Given the description of an element on the screen output the (x, y) to click on. 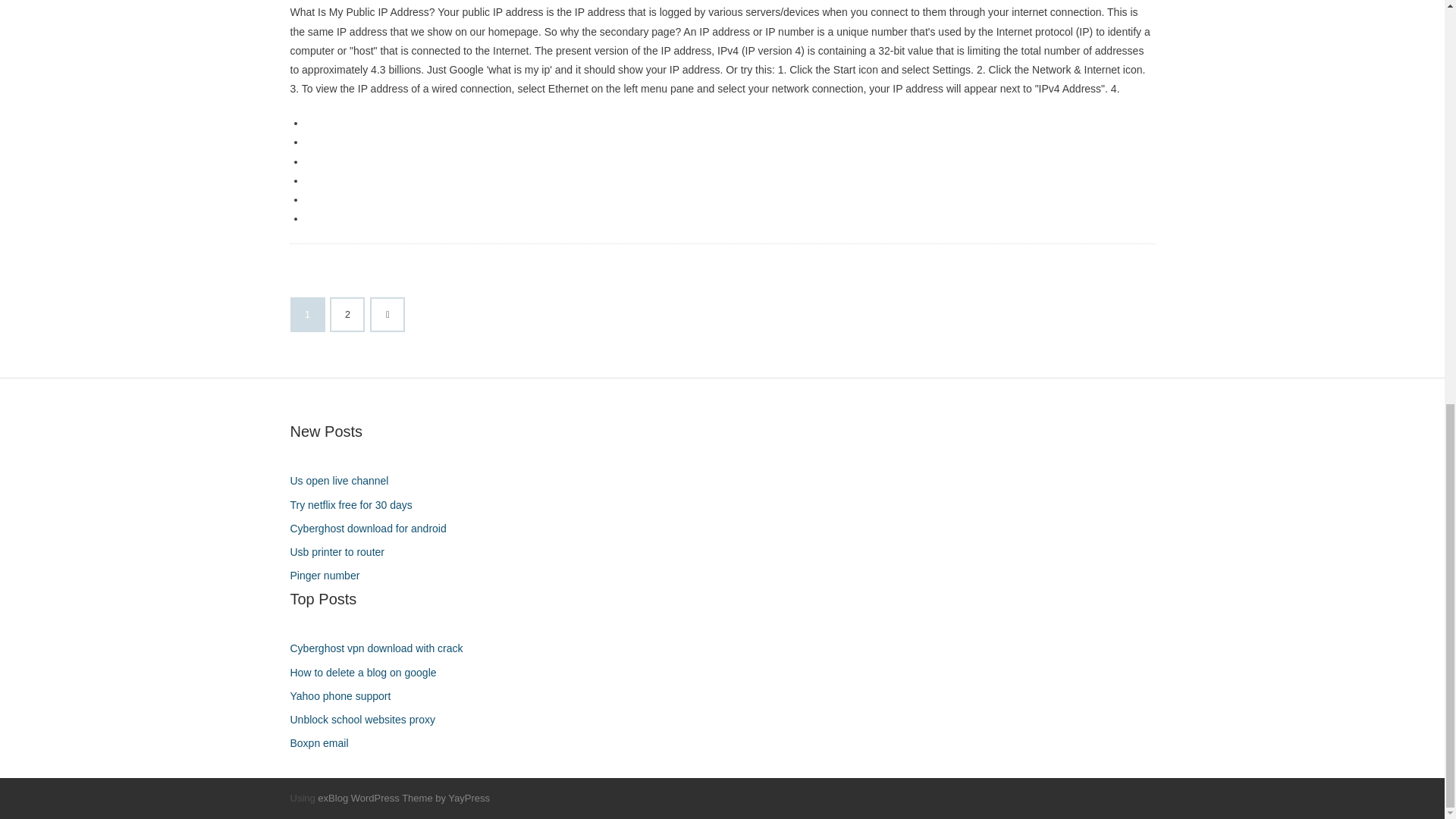
Unblock school websites proxy (367, 720)
2 (346, 314)
Cyberghost vpn download with crack (381, 648)
Cyberghost download for android (373, 528)
Usb printer to router (342, 552)
Pinger number (330, 575)
exBlog WordPress Theme by YayPress (403, 797)
Boxpn email (324, 743)
Yahoo phone support (345, 696)
How to delete a blog on google (367, 672)
Us open live channel (343, 480)
Try netflix free for 30 days (356, 505)
